Given the description of an element on the screen output the (x, y) to click on. 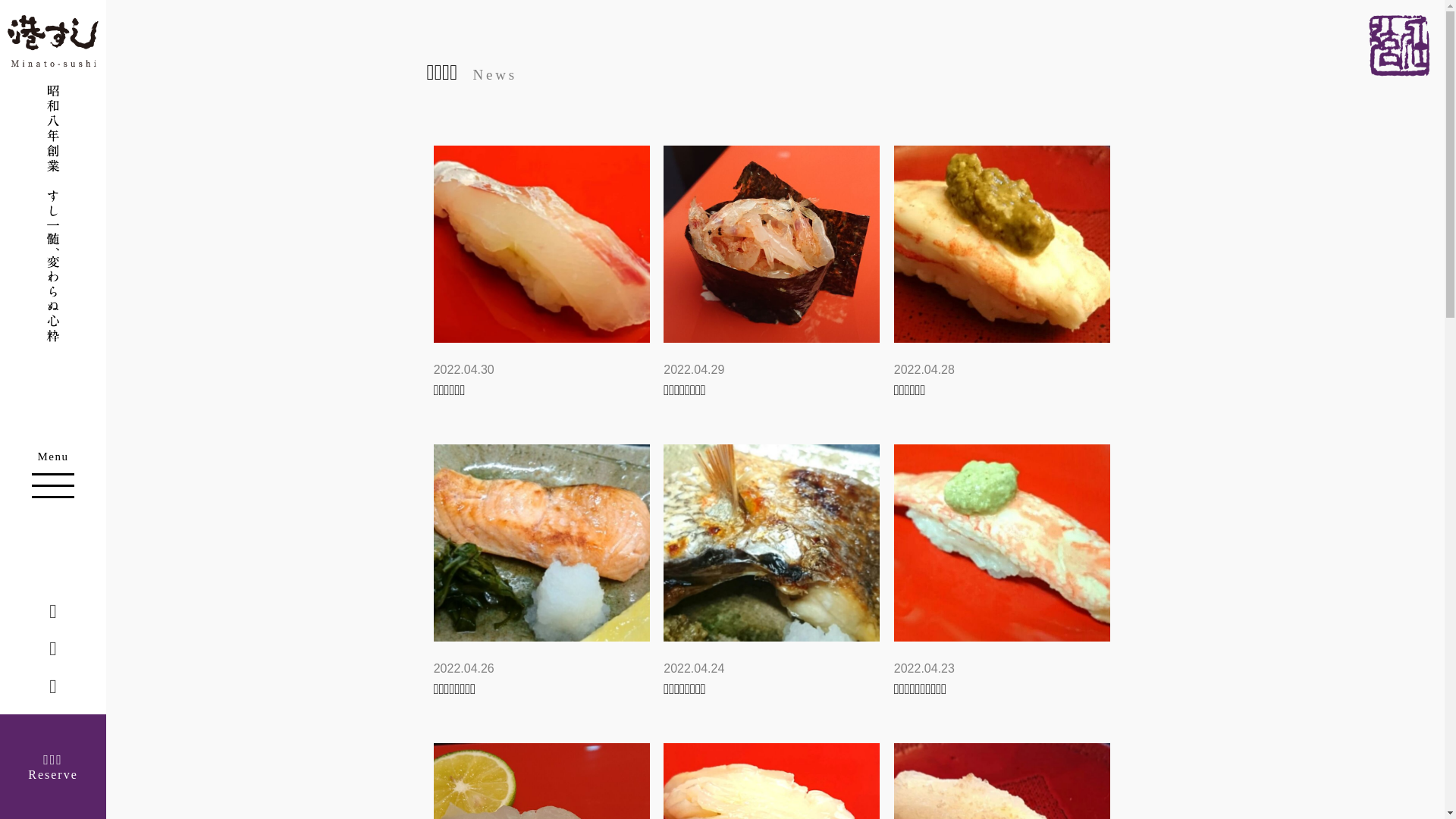
Menu Element type: text (52, 472)
